Given the description of an element on the screen output the (x, y) to click on. 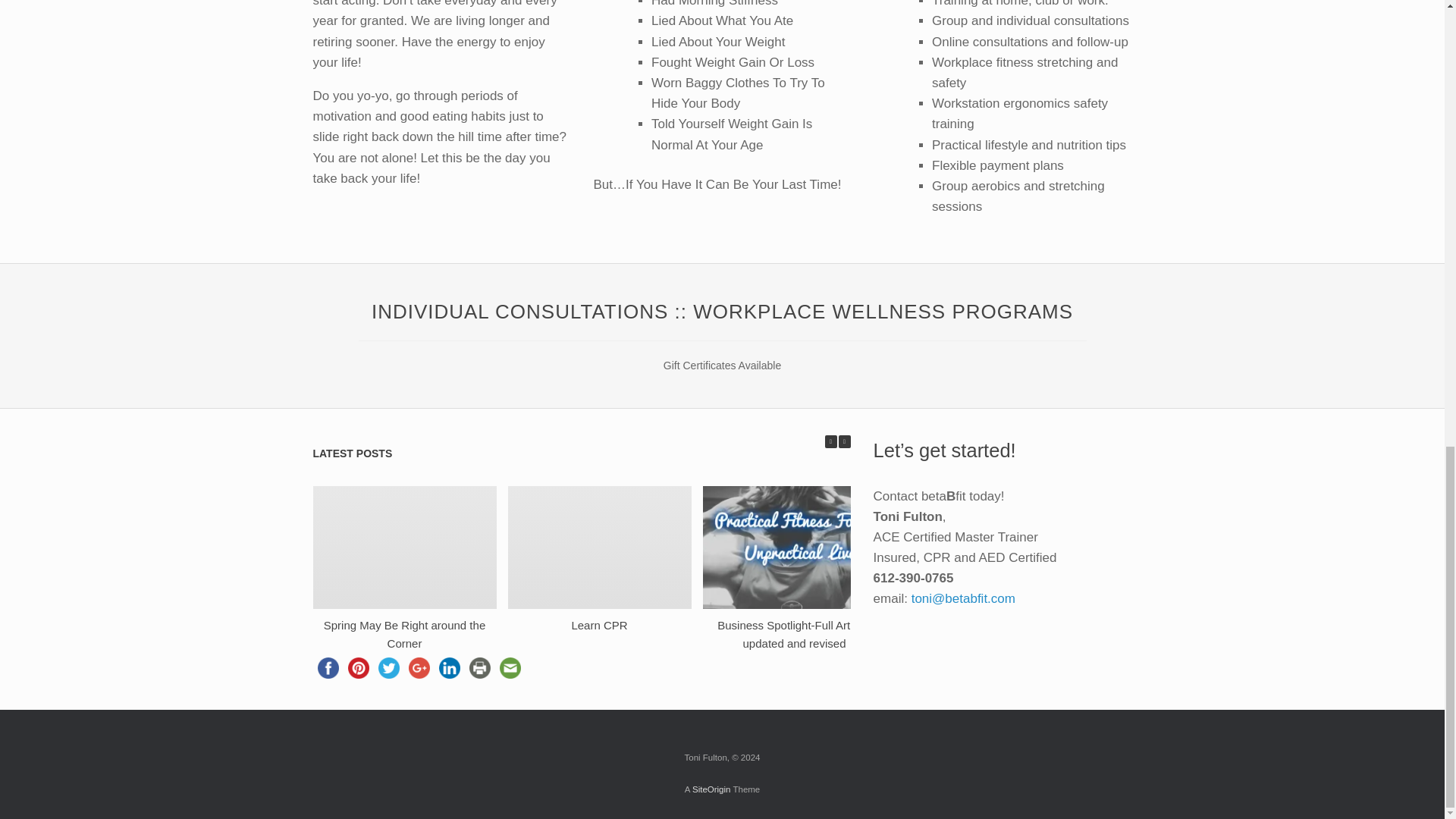
Spring May Be Right around the Corner (403, 634)
SiteOrigin (711, 788)
pinterest (357, 667)
Learn CPR (598, 625)
linkedin (448, 667)
Previous (831, 440)
facebook (327, 667)
Business Spotlight-Full Article- updated and revised (793, 634)
Next (844, 440)
google (418, 667)
